Given the description of an element on the screen output the (x, y) to click on. 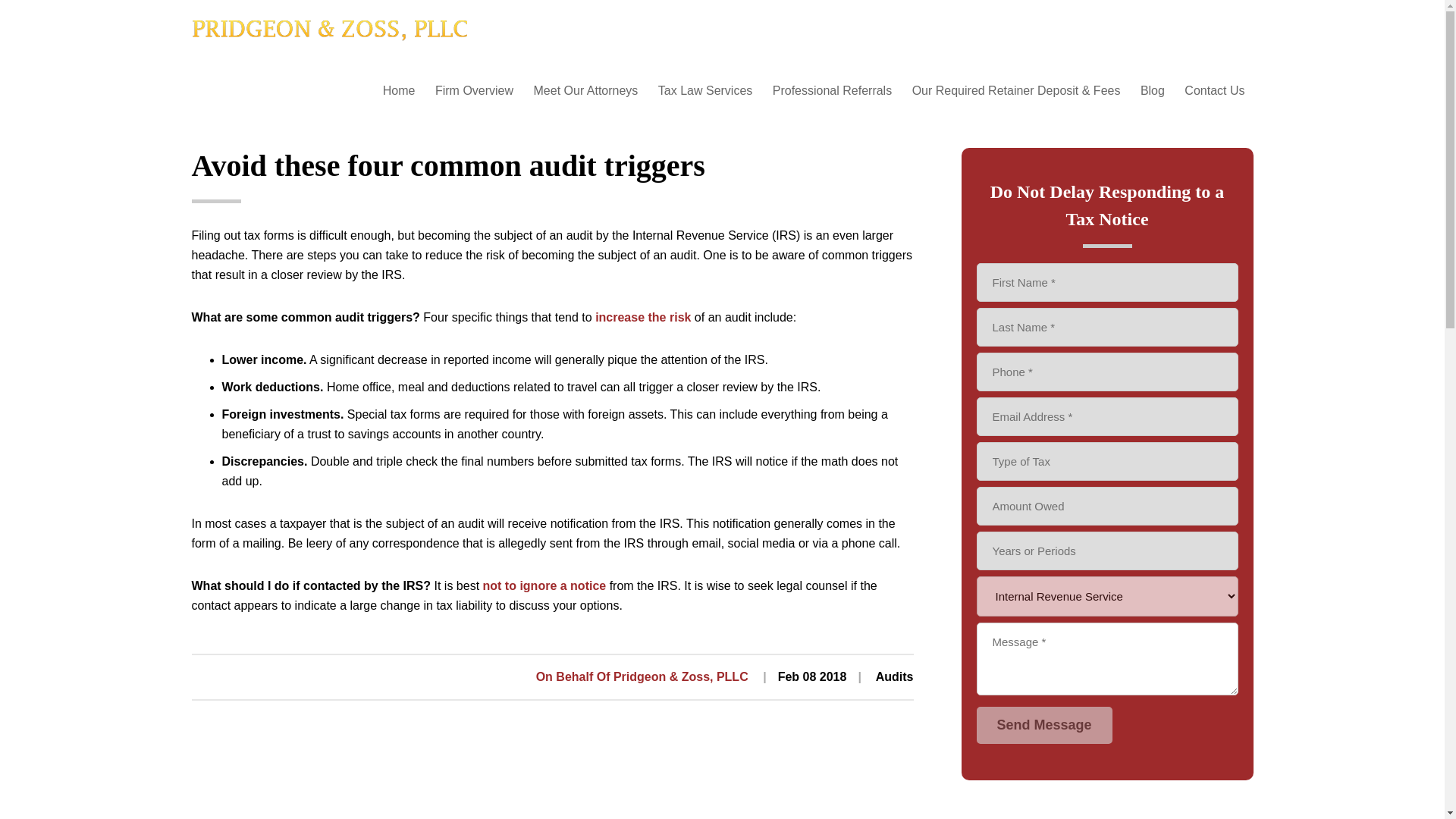
Send Message (1044, 724)
Professional Referrals (831, 91)
not to ignore a notice (545, 585)
Firm Overview (473, 91)
Send Message (1044, 724)
increase the risk (642, 317)
Audits (262, 75)
Home (207, 75)
Contact Us (1214, 91)
Audits (895, 676)
Tax Law Services (705, 91)
Meet Our Attorneys (585, 91)
